Given the description of an element on the screen output the (x, y) to click on. 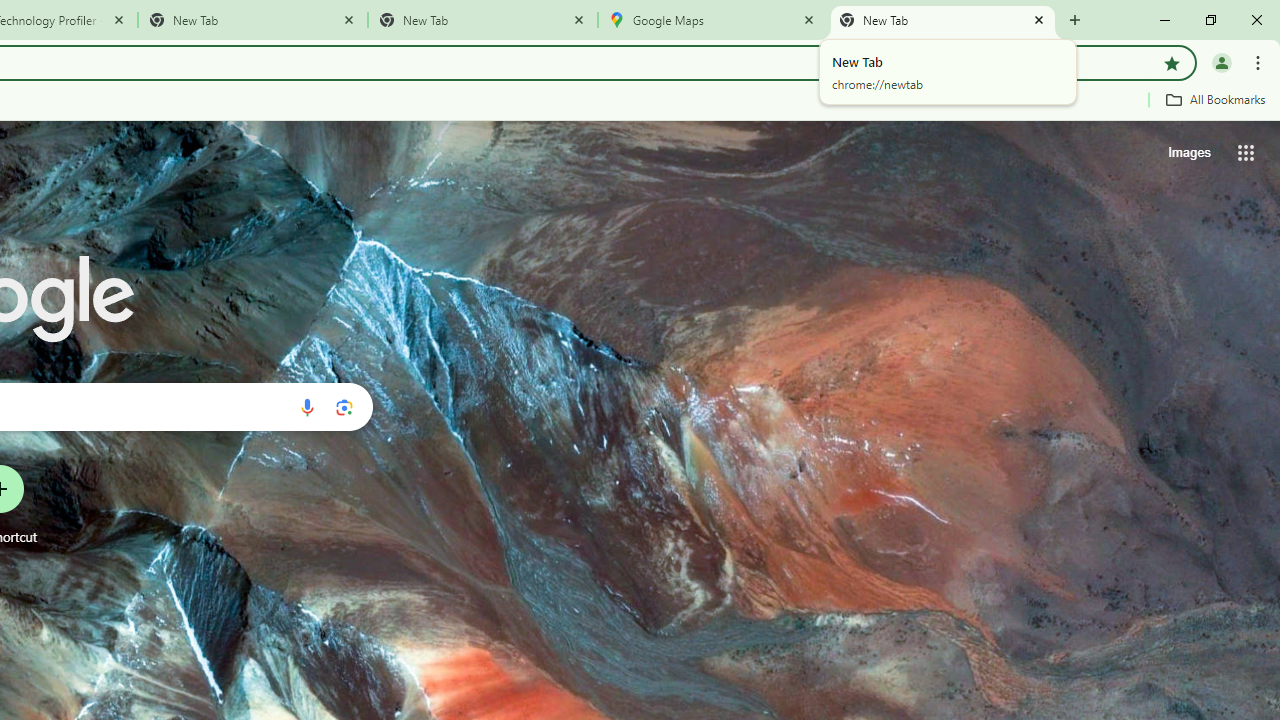
New Tab (943, 20)
New Tab (482, 20)
Google Maps (712, 20)
